Given the description of an element on the screen output the (x, y) to click on. 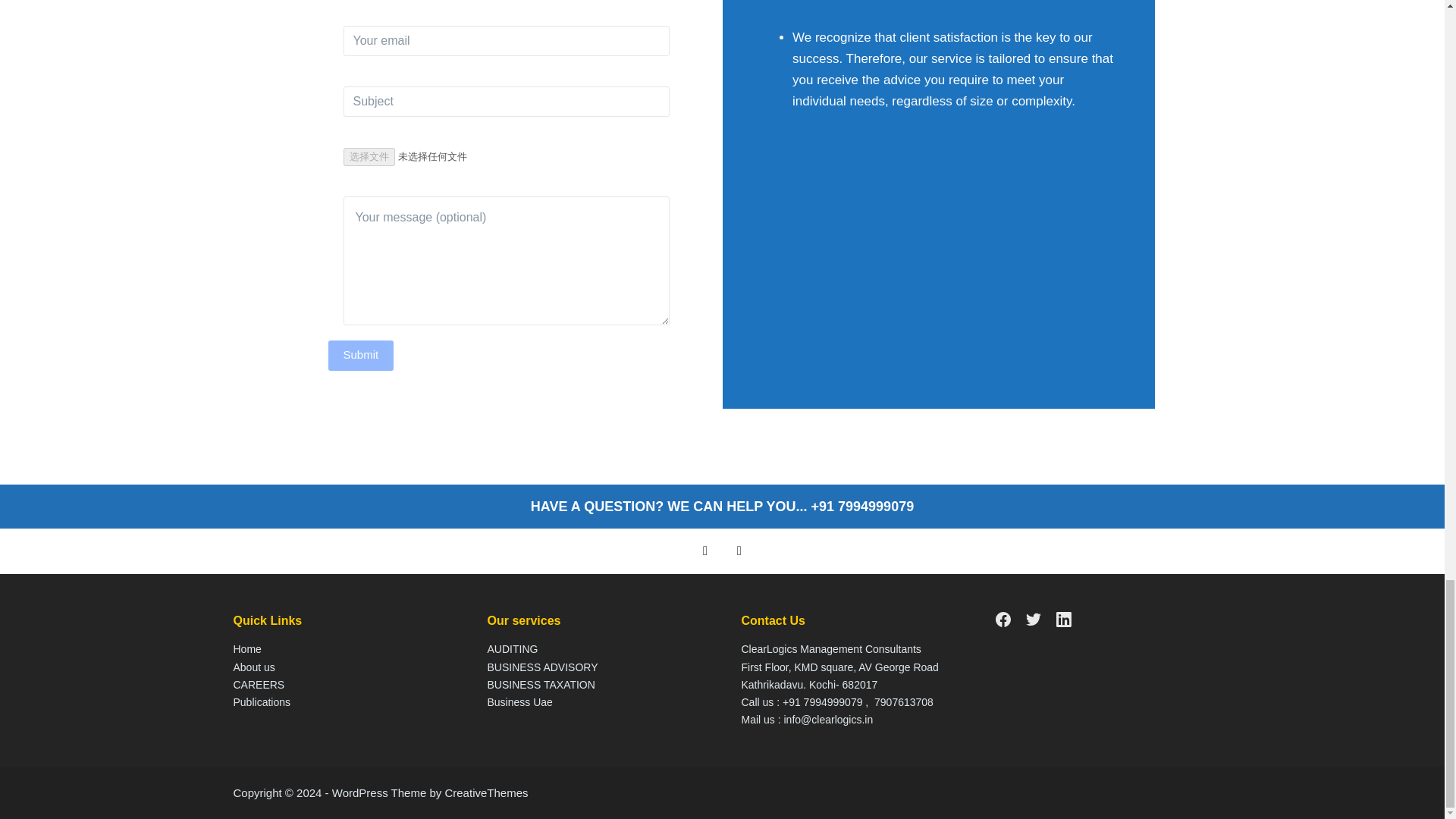
Submit (360, 355)
